Given the description of an element on the screen output the (x, y) to click on. 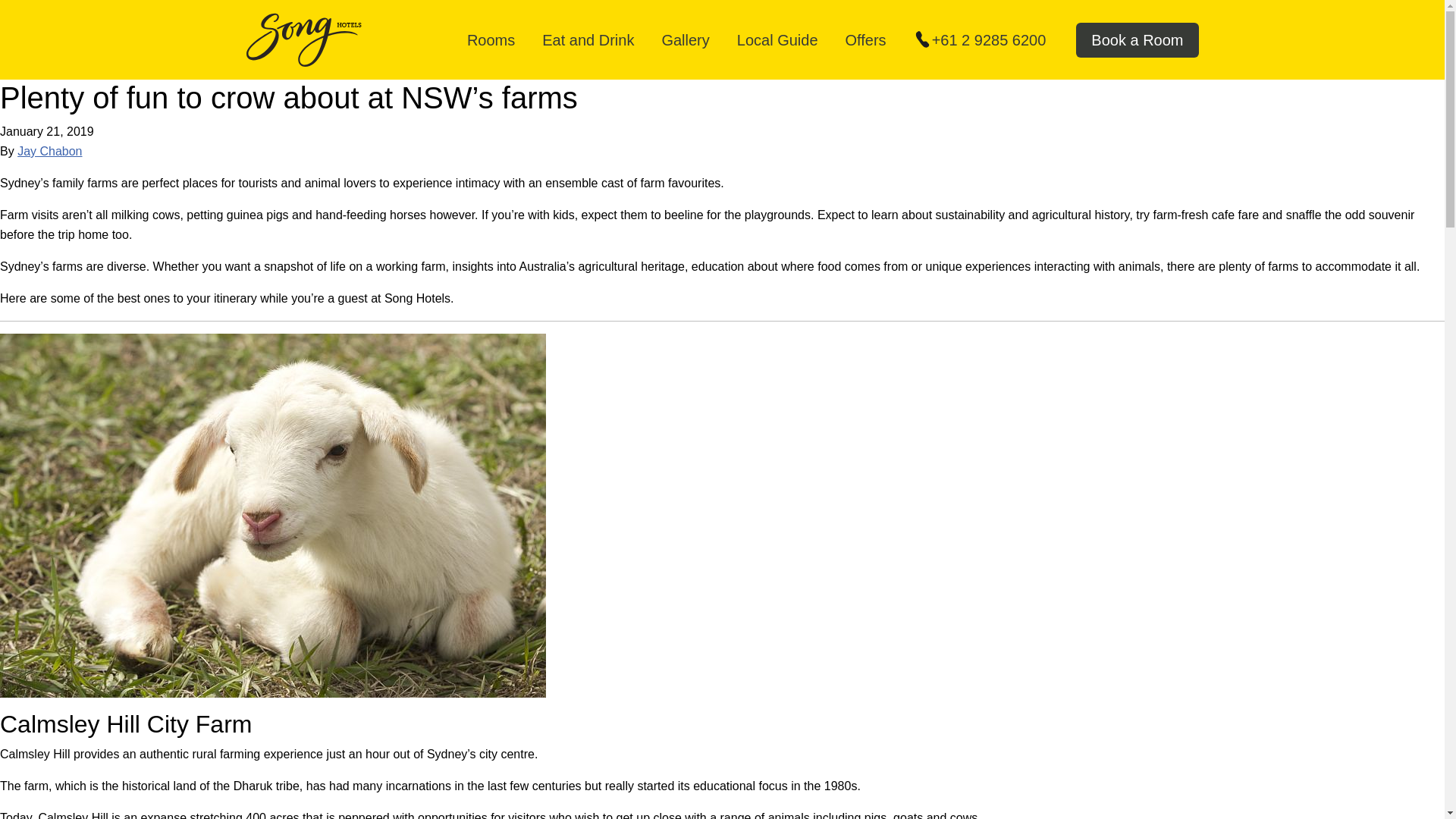
Eat and Drink (589, 40)
Gallery (686, 40)
Local Guide (778, 40)
Offers (866, 40)
Book a Room (1136, 39)
Rooms (491, 40)
Jay Chabon (49, 151)
